Given the description of an element on the screen output the (x, y) to click on. 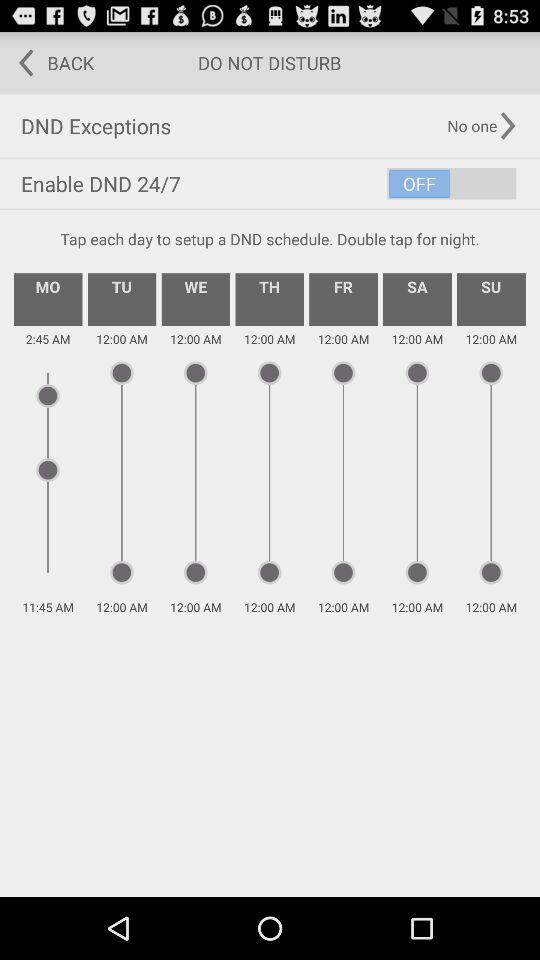
click the icon next to 12:00 am (417, 299)
